Given the description of an element on the screen output the (x, y) to click on. 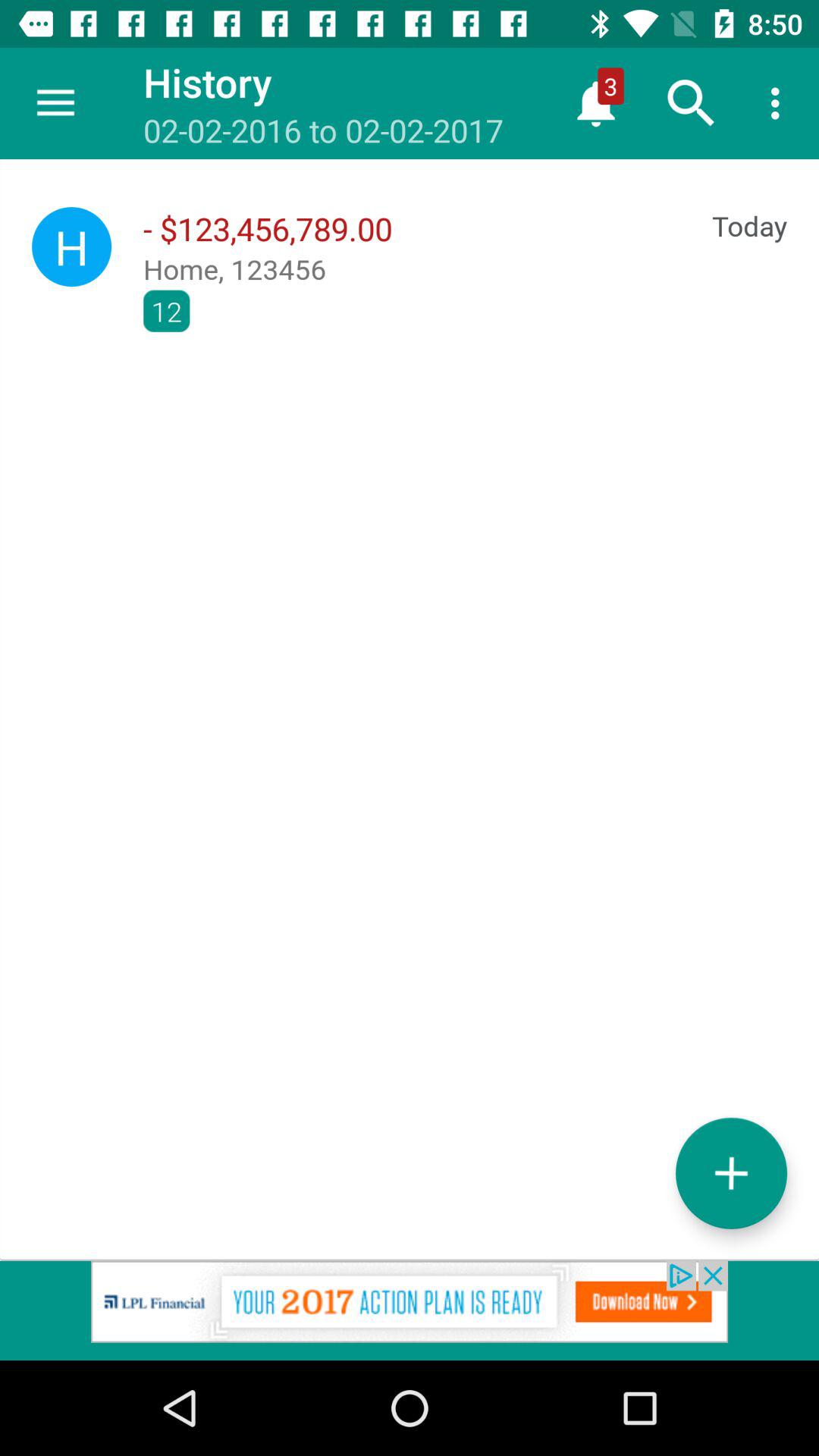
incriment button (731, 1173)
